Given the description of an element on the screen output the (x, y) to click on. 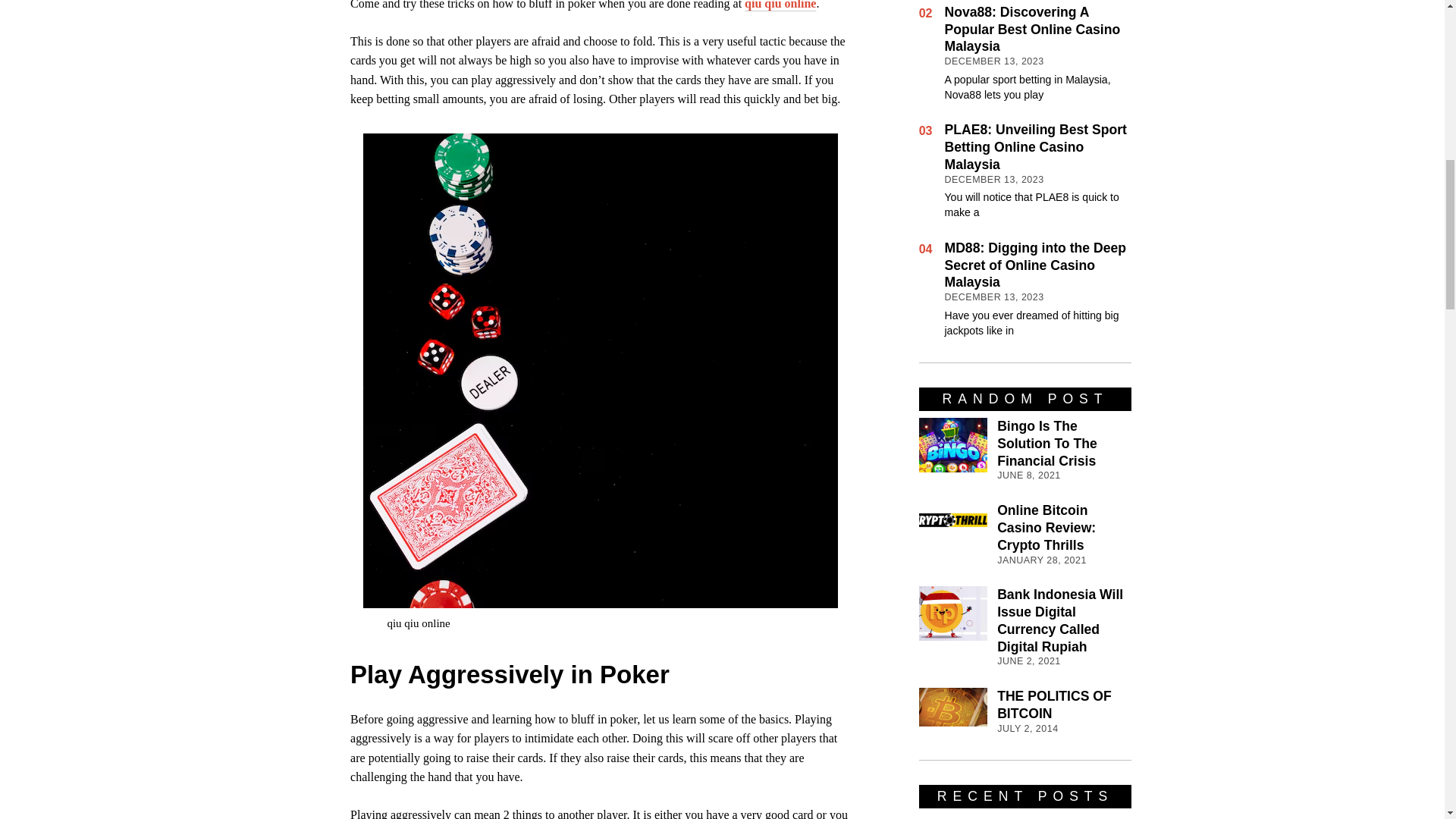
qiu qiu online (779, 4)
